Given the description of an element on the screen output the (x, y) to click on. 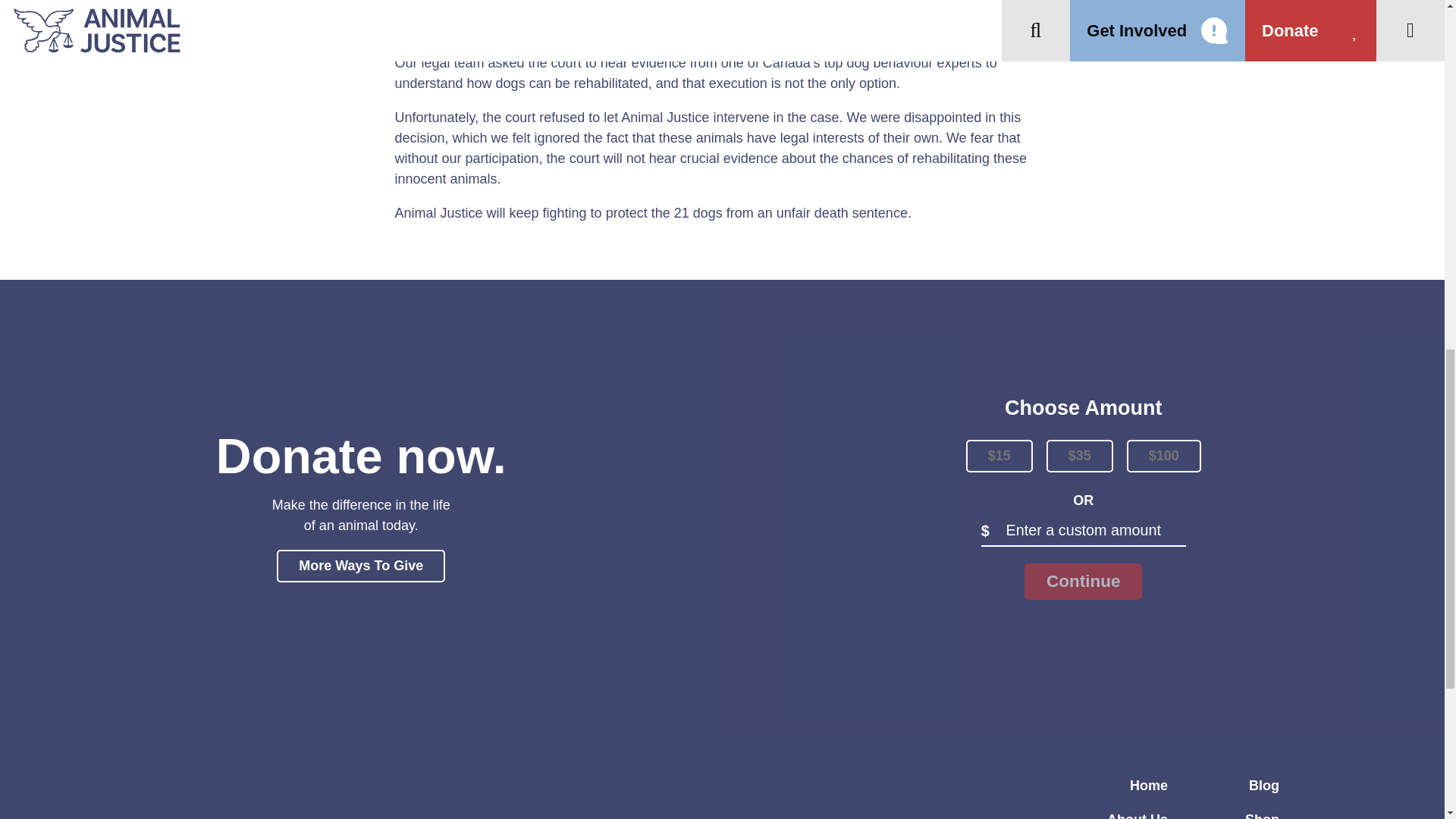
Continue (1083, 581)
Home (1148, 785)
About Us (1136, 815)
More Ways To Give (360, 565)
